Given the description of an element on the screen output the (x, y) to click on. 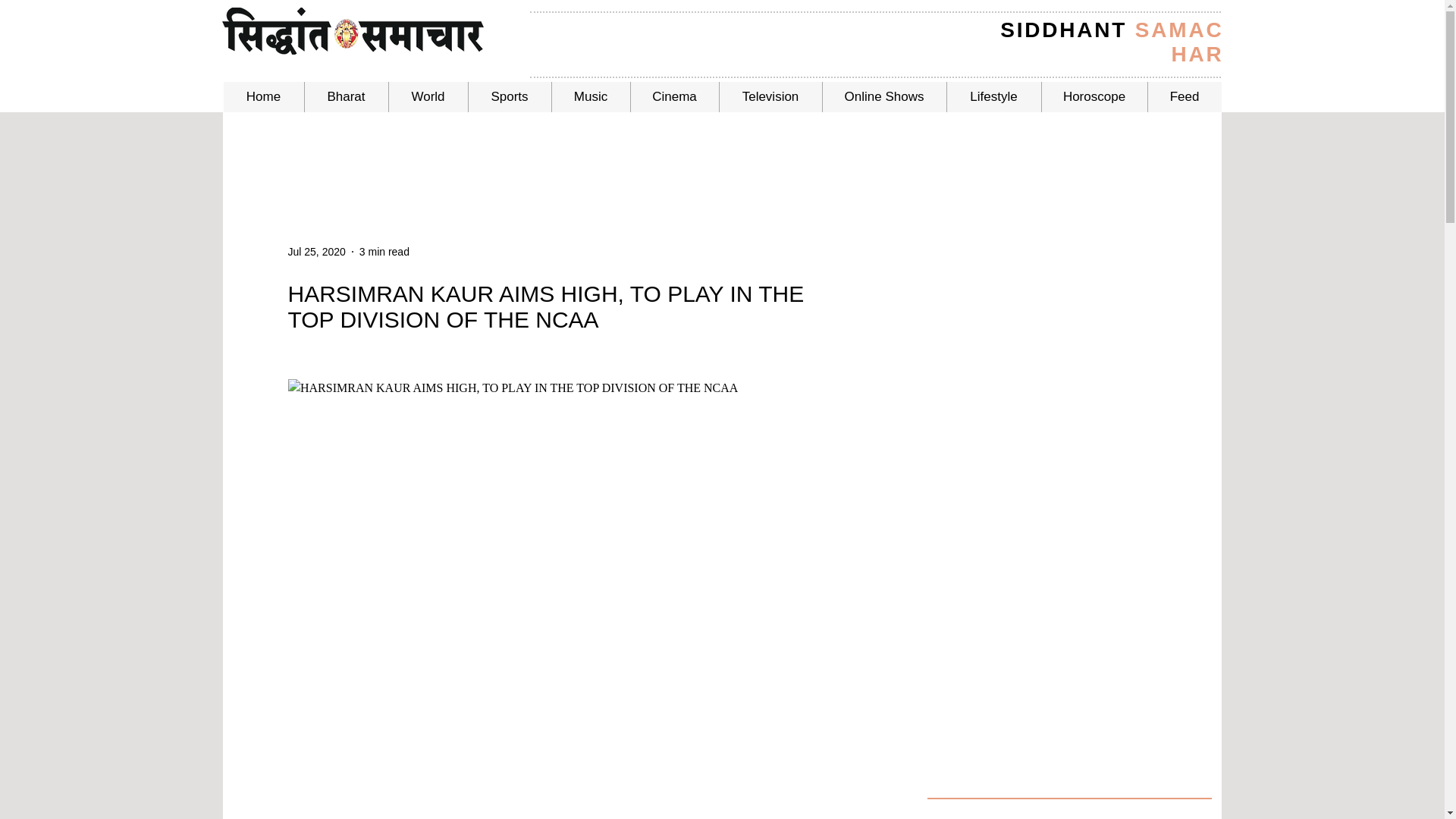
World (427, 96)
Sports (508, 96)
Cinema (672, 96)
Horoscope (1094, 96)
Feed (1184, 96)
Jul 25, 2020 (317, 251)
Television (770, 96)
Bharat (344, 96)
3 min read (384, 251)
Music (589, 96)
